Given the description of an element on the screen output the (x, y) to click on. 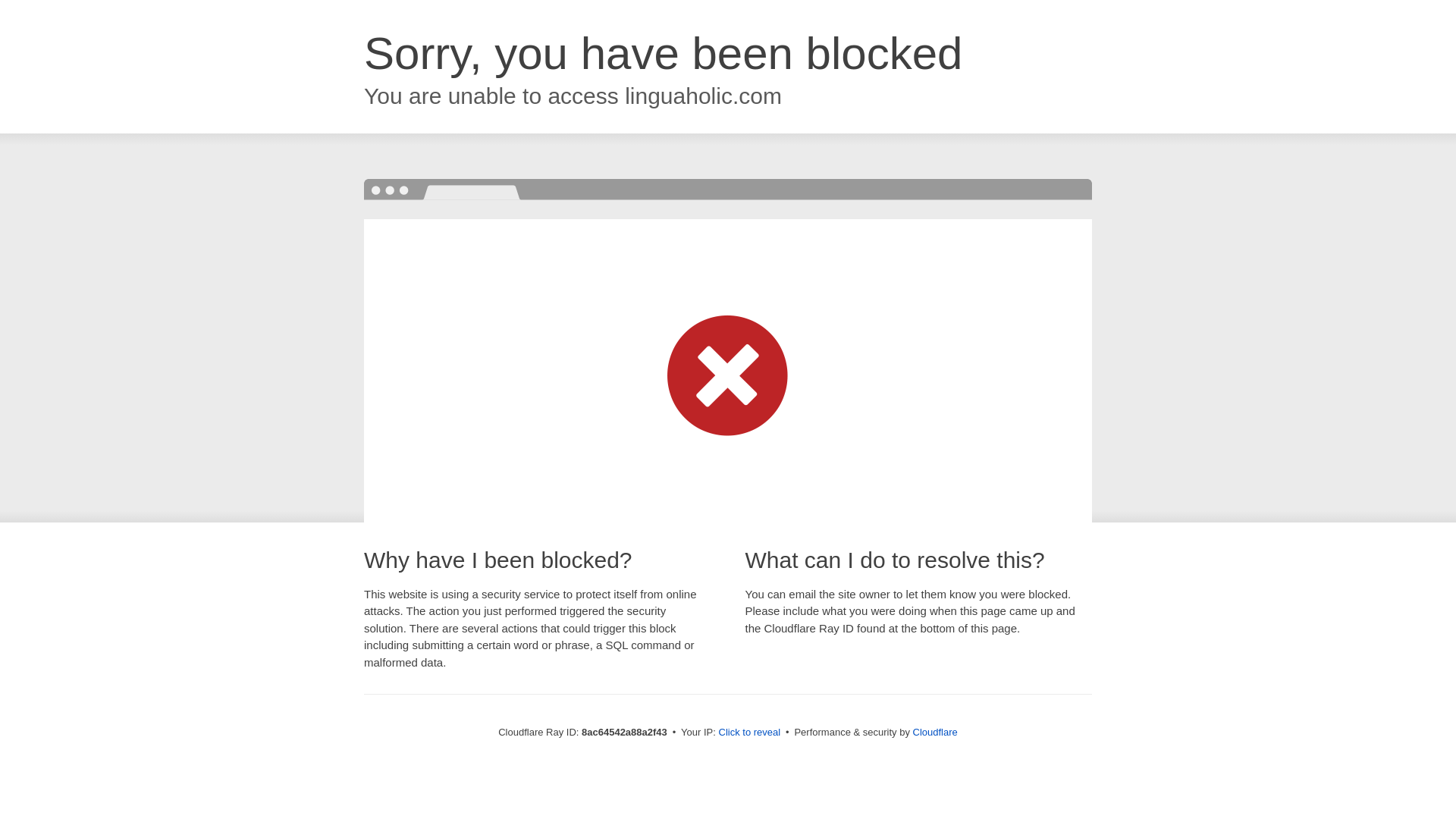
Cloudflare (935, 731)
Click to reveal (749, 732)
